Given the description of an element on the screen output the (x, y) to click on. 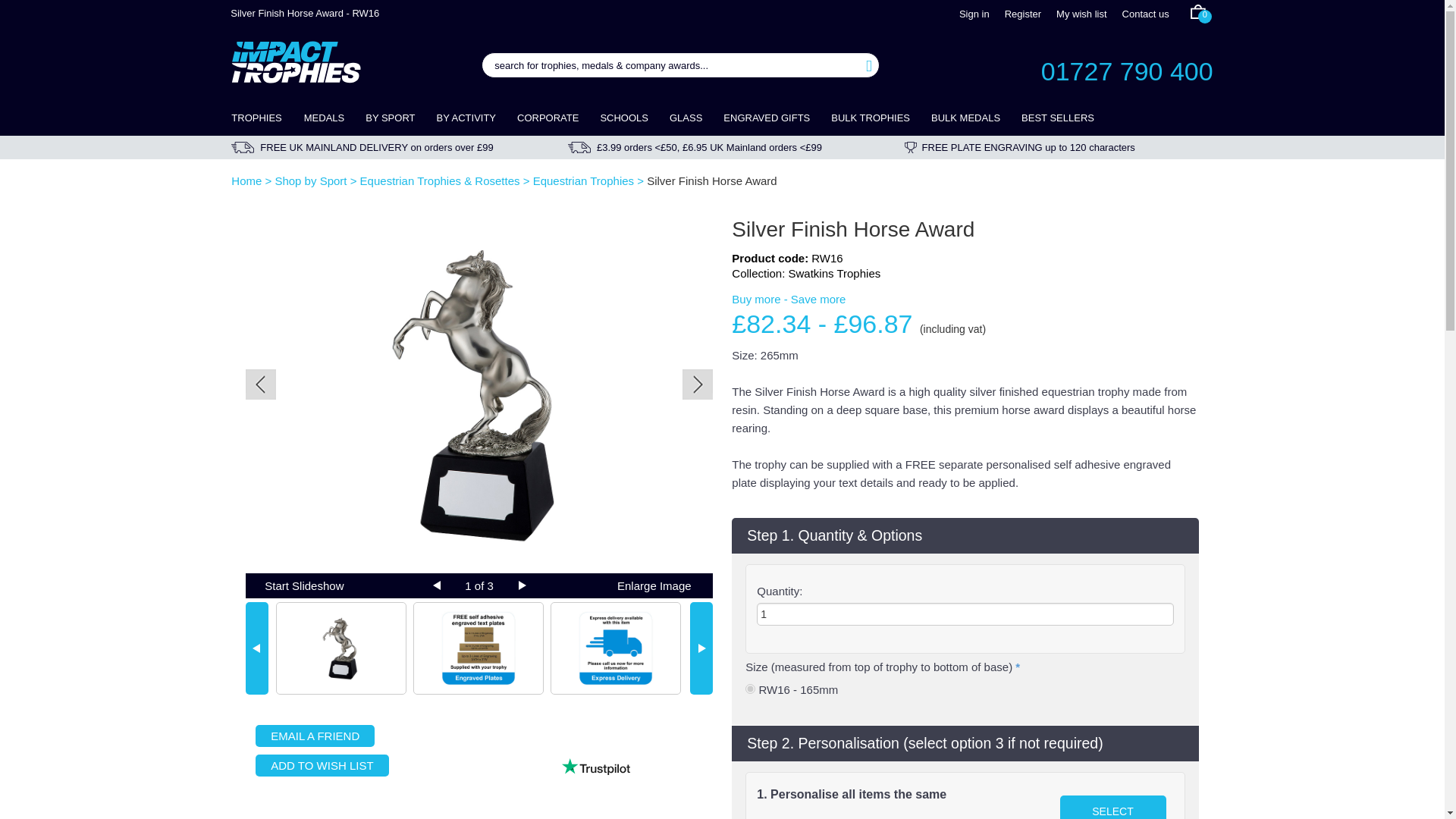
Select (1112, 807)
My wish list (1081, 14)
Silver Finish Horse Award - RW16 (478, 394)
GLASS (686, 117)
Add to wish list (322, 765)
BY SPORT (390, 117)
FREE PLATE ENGRAVING up to 120 characters (1058, 147)
BY ACTIVITY (466, 117)
CORPORATE (547, 117)
TROPHIES (261, 117)
Sign in (974, 14)
Free engraved text plates (478, 647)
Contact us (1145, 14)
Register (1022, 14)
SCHOOLS (624, 117)
